Given the description of an element on the screen output the (x, y) to click on. 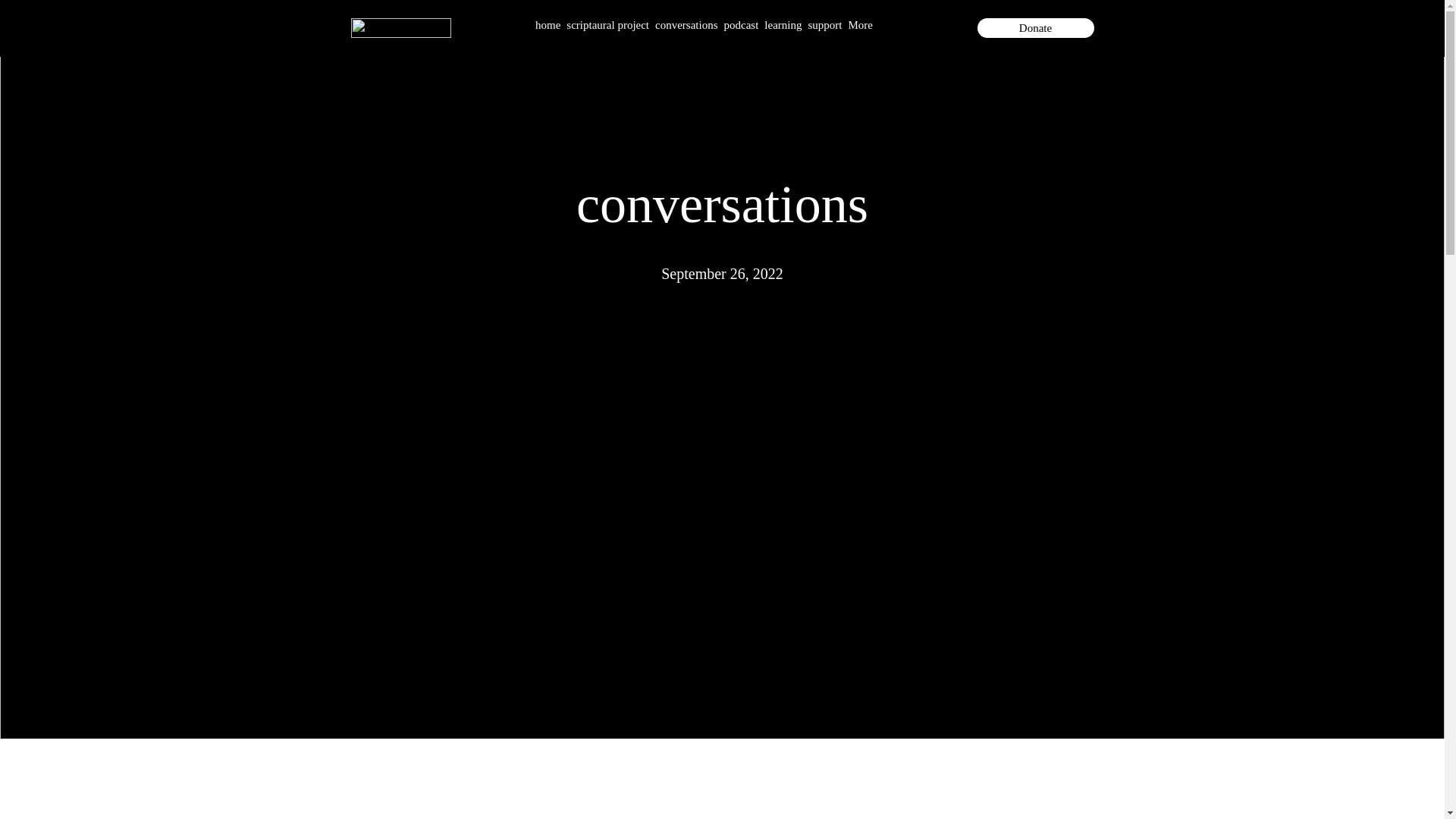
scriptaural project (607, 28)
Donate (1034, 27)
home (547, 28)
conversations (685, 28)
support (824, 28)
learning (782, 28)
podcast (741, 28)
